Given the description of an element on the screen output the (x, y) to click on. 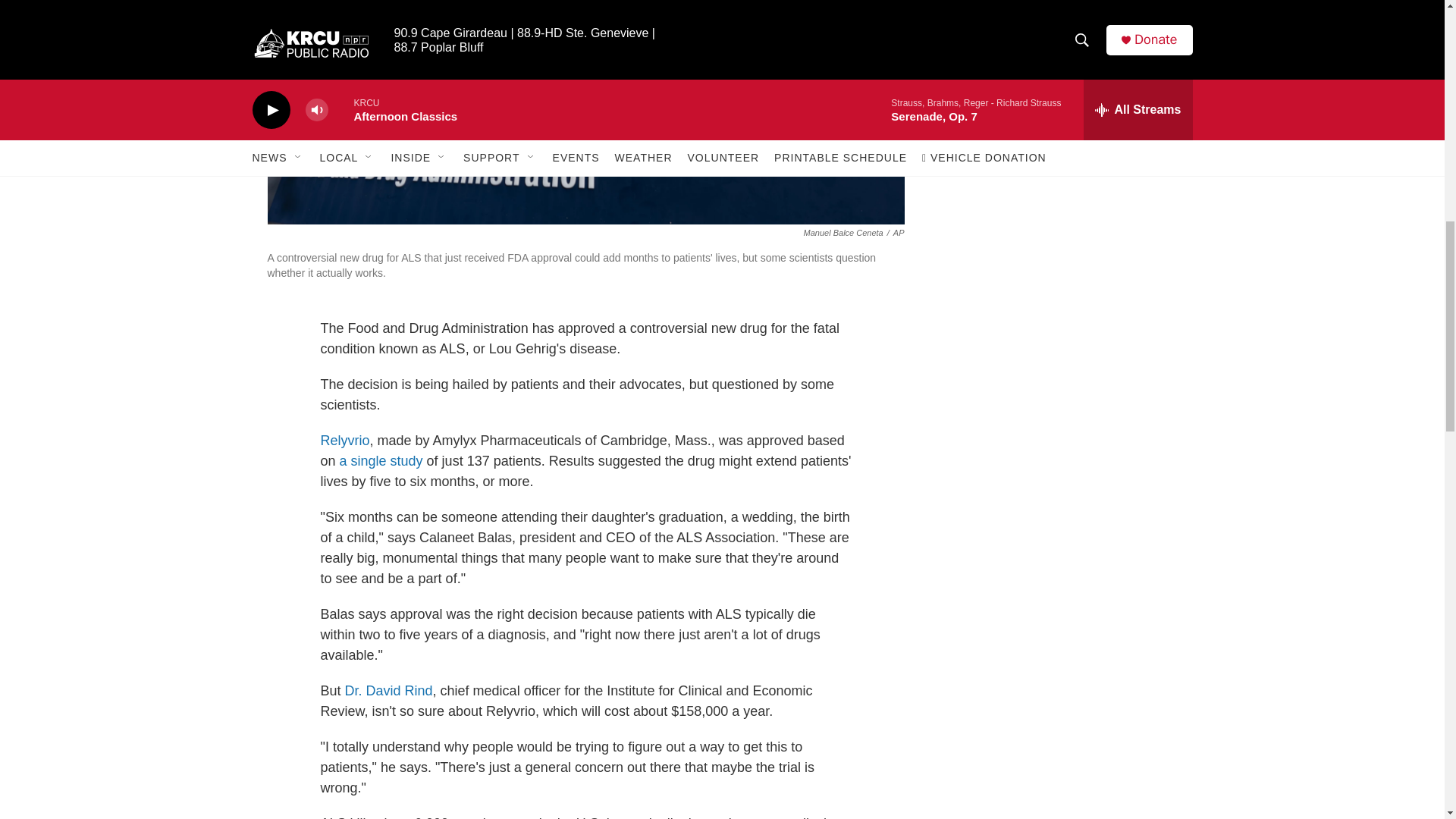
3rd party ad content (1062, 16)
